Given the description of an element on the screen output the (x, y) to click on. 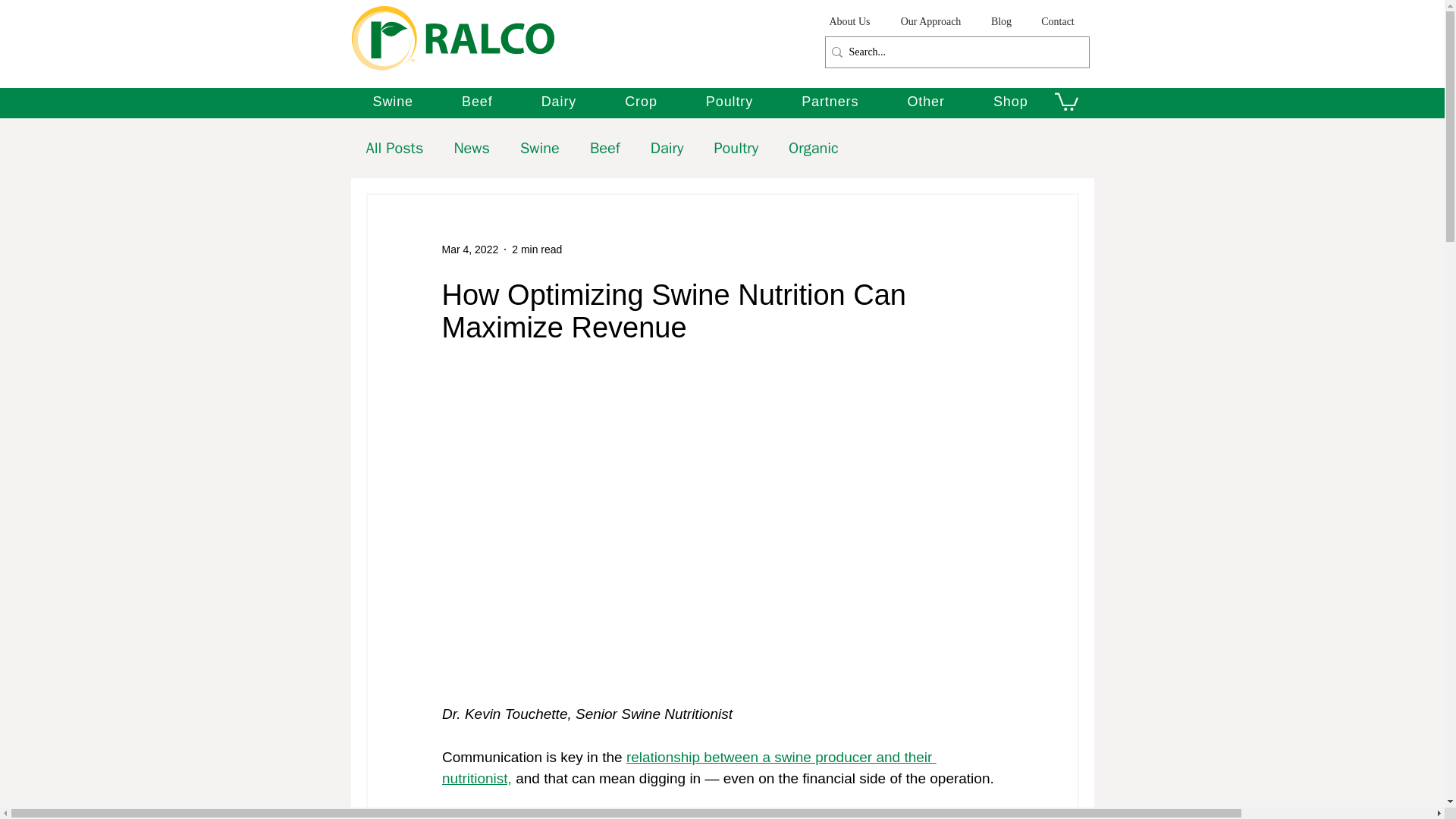
Mar 4, 2022 (469, 249)
All Posts (394, 148)
Contact (1057, 21)
Poultry (729, 101)
Swine (393, 101)
News (470, 148)
Crop (641, 101)
Dairy (558, 101)
About Us (849, 21)
Our Approach (930, 21)
Shop (1010, 101)
Blog (1001, 21)
Beef (477, 101)
2 min read (537, 249)
